Given the description of an element on the screen output the (x, y) to click on. 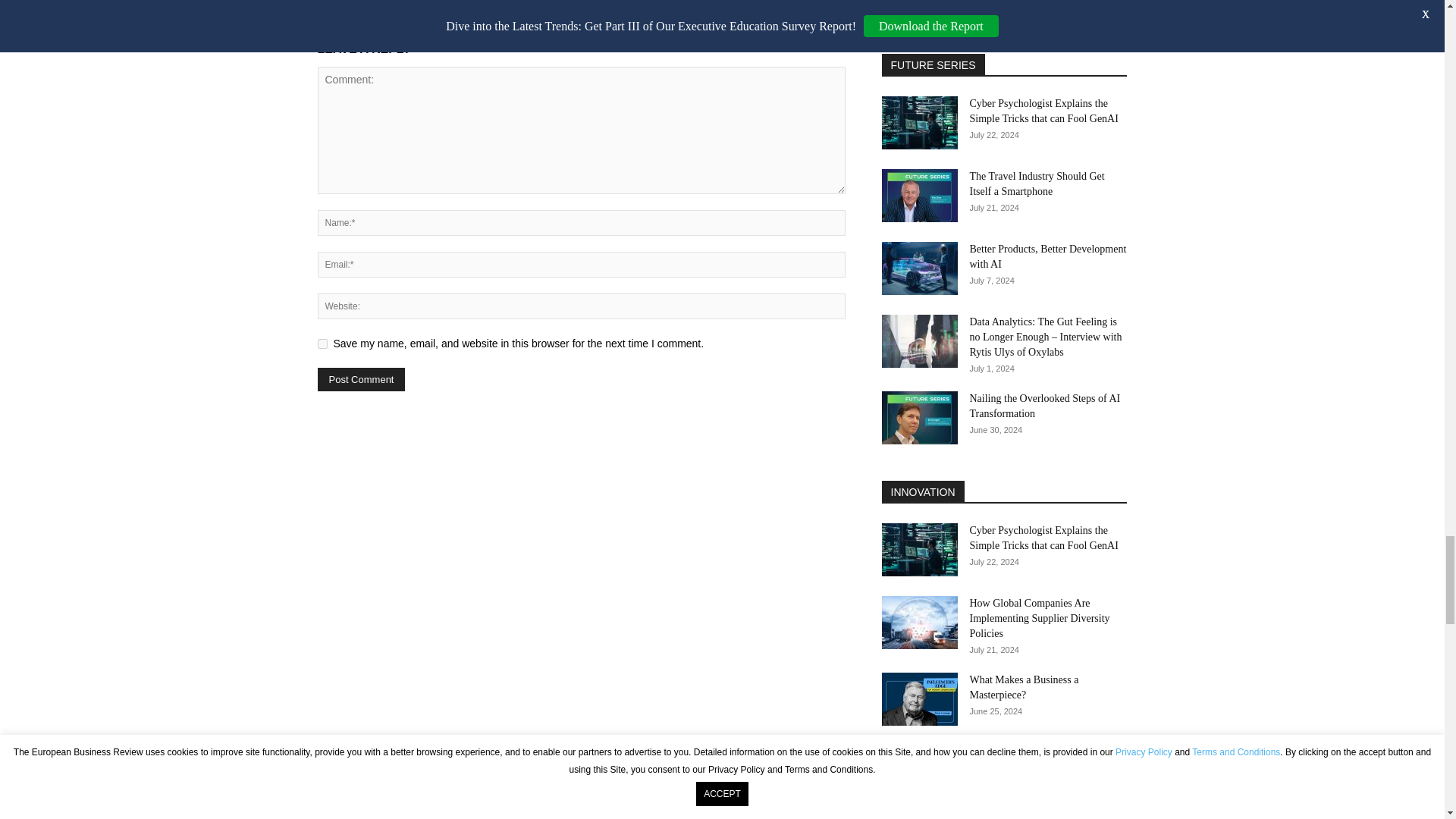
yes (321, 343)
Post Comment (360, 379)
